Given the description of an element on the screen output the (x, y) to click on. 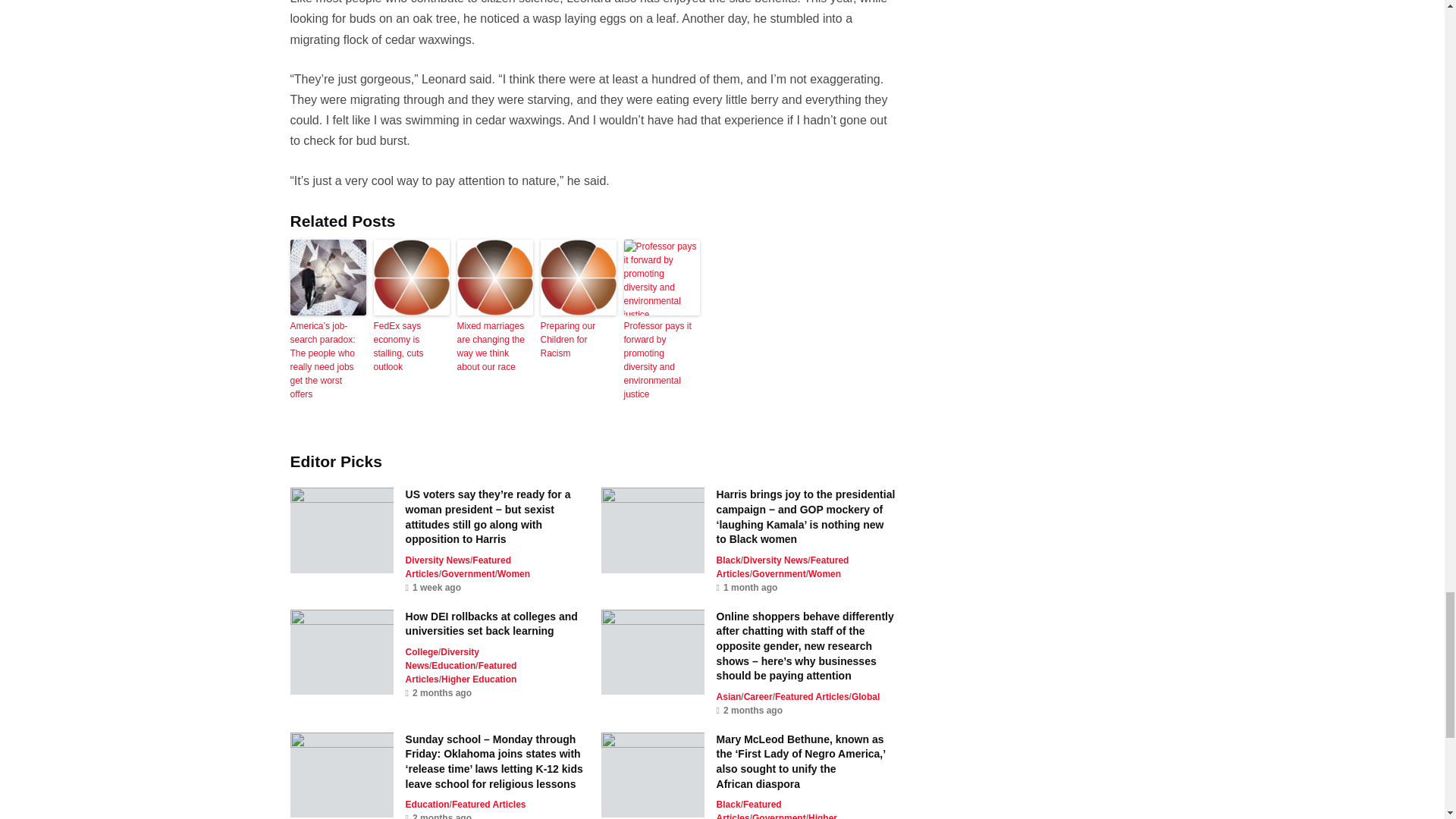
Women (513, 573)
Preparing our Children for Racism (577, 339)
Diversity News (438, 560)
Featured Articles (458, 567)
Mixed marriages are changing the way we think about our race (494, 346)
Government (468, 573)
FedEx says economy is stalling, cuts outlook (410, 346)
